Given the description of an element on the screen output the (x, y) to click on. 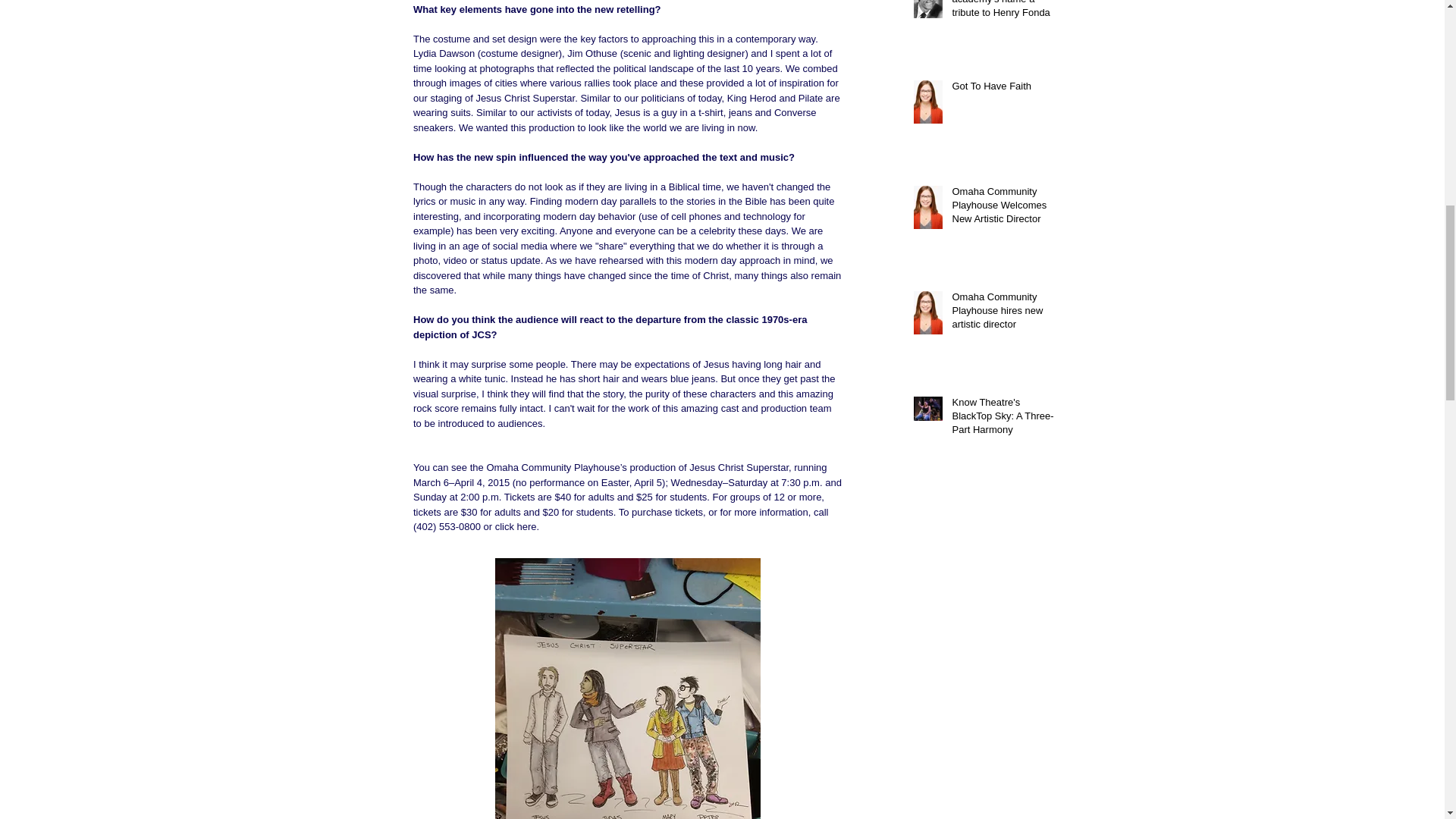
Omaha Community Playhouse Welcomes New Artistic Director (1006, 208)
Omaha Community Playhouse hires new artistic director (1006, 314)
Got To Have Faith (1006, 89)
Know Theatre's BlackTop Sky: A Three-Part Harmony (1006, 419)
